Given the description of an element on the screen output the (x, y) to click on. 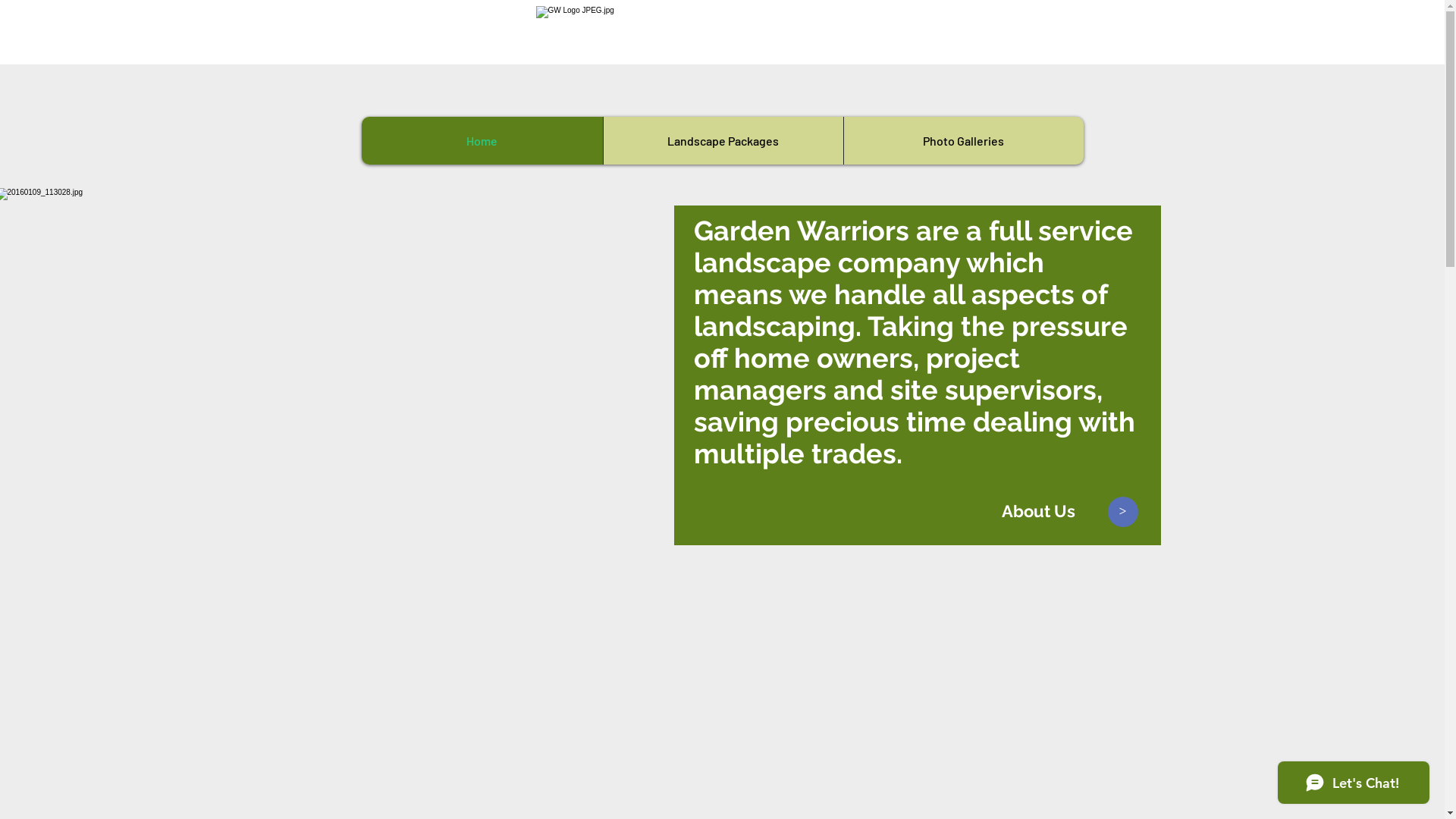
> Element type: text (1122, 511)
Landscape Packages Element type: text (722, 140)
Photo Galleries Element type: text (963, 140)
Home Element type: text (481, 140)
